Given the description of an element on the screen output the (x, y) to click on. 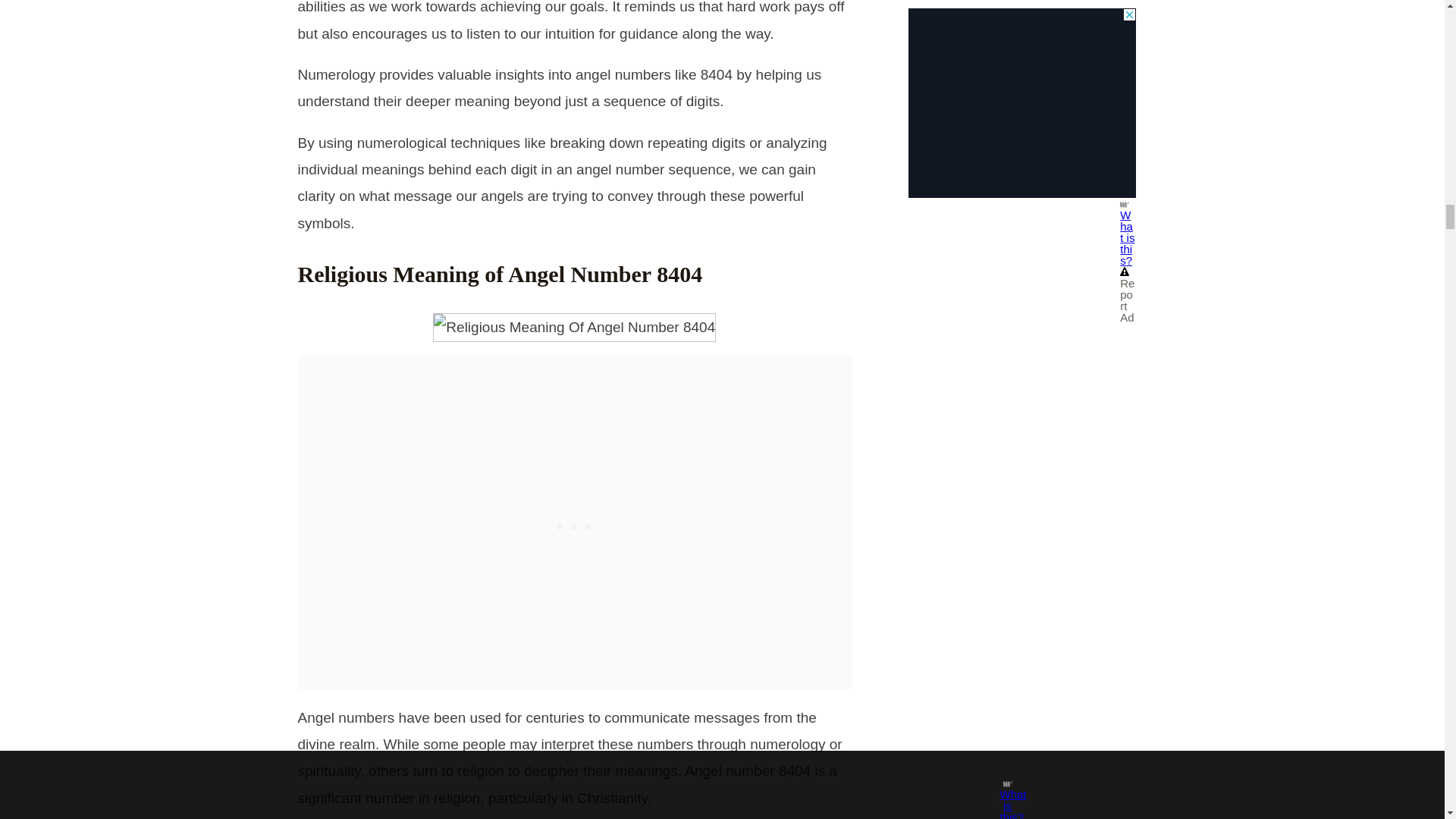
Religious Meaning Of Angel Number 8404 (574, 326)
